Given the description of an element on the screen output the (x, y) to click on. 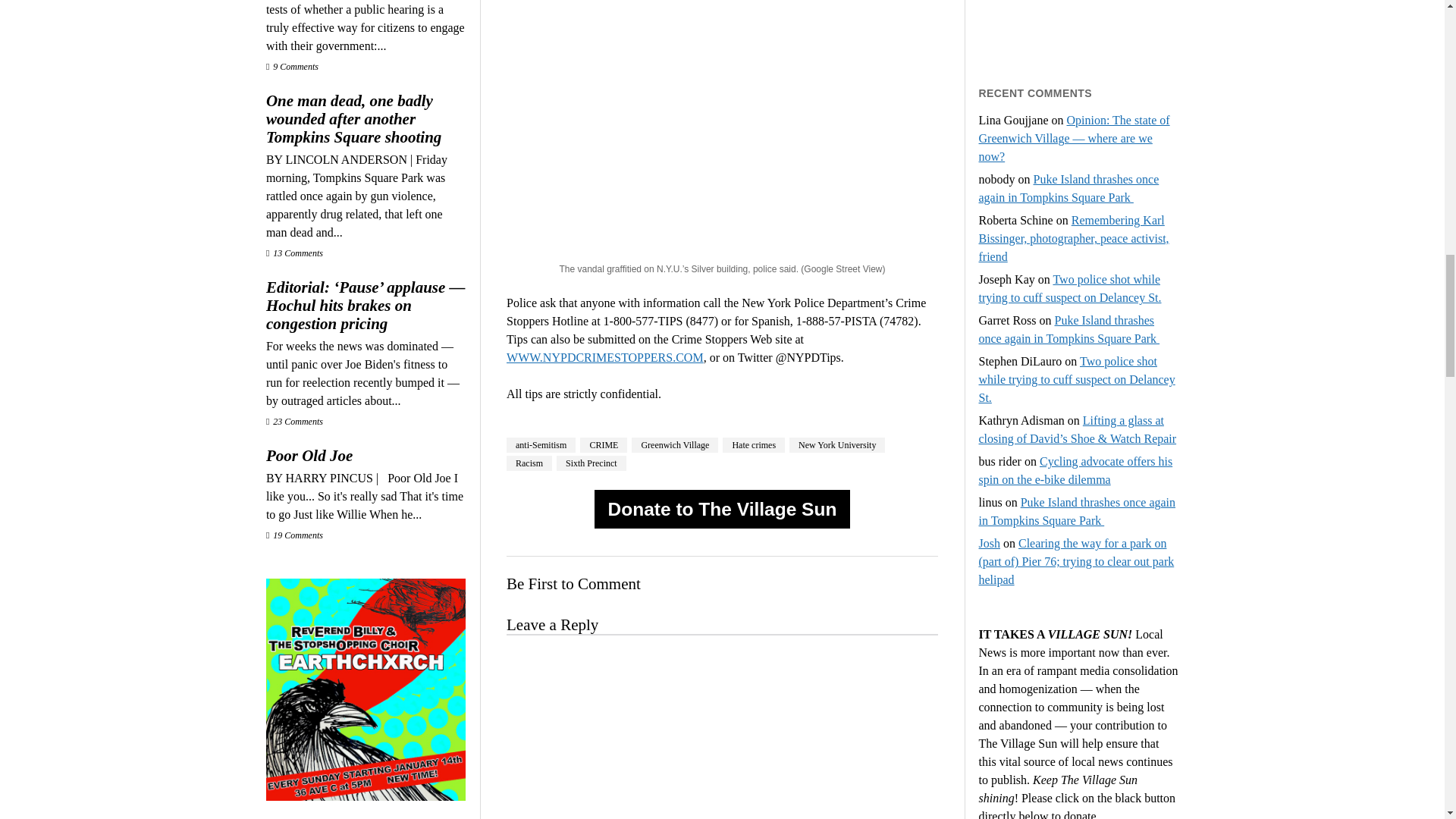
CRIME (603, 444)
View all posts tagged Racism (528, 462)
9 Comments (292, 66)
View all posts tagged Greenwich Village (674, 444)
23 Comments (294, 421)
19 Comments (294, 534)
anti-Semitism (540, 444)
13 Comments (294, 253)
Poor Old Joe (365, 455)
View all posts tagged New York University (837, 444)
View all posts tagged anti-Semitism (540, 444)
View all posts tagged CRIME (603, 444)
Greenwich Village (674, 444)
View all posts tagged Hate crimes (753, 444)
